Given the description of an element on the screen output the (x, y) to click on. 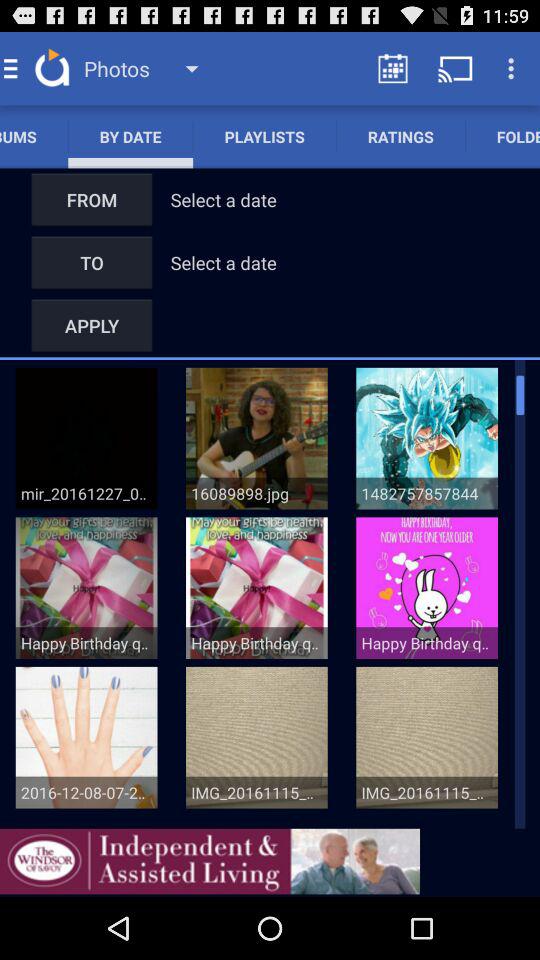
advertisement image (210, 861)
